Given the description of an element on the screen output the (x, y) to click on. 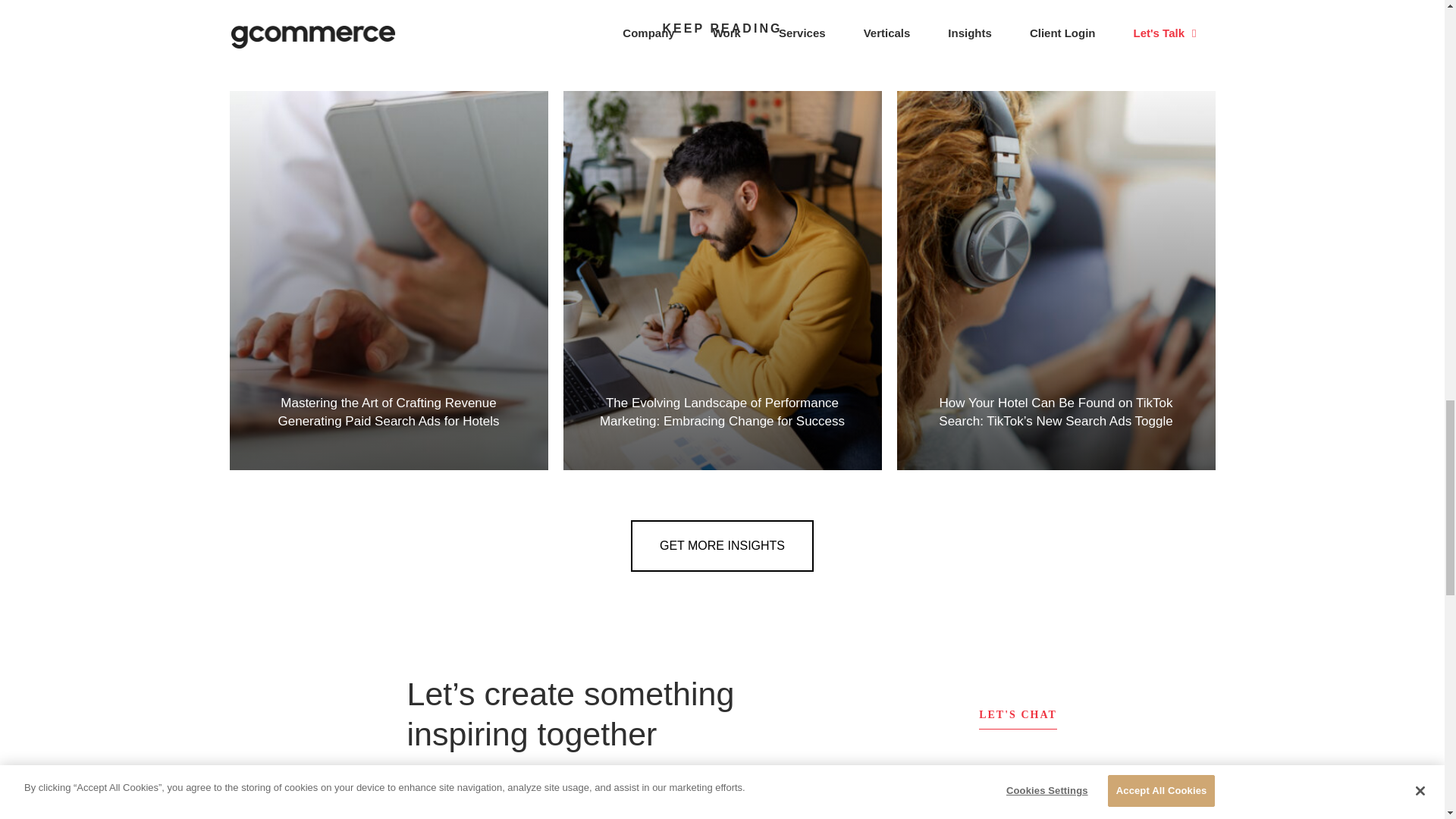
LET'S CHAT (1017, 714)
GET MORE INSIGHTS (721, 545)
